Given the description of an element on the screen output the (x, y) to click on. 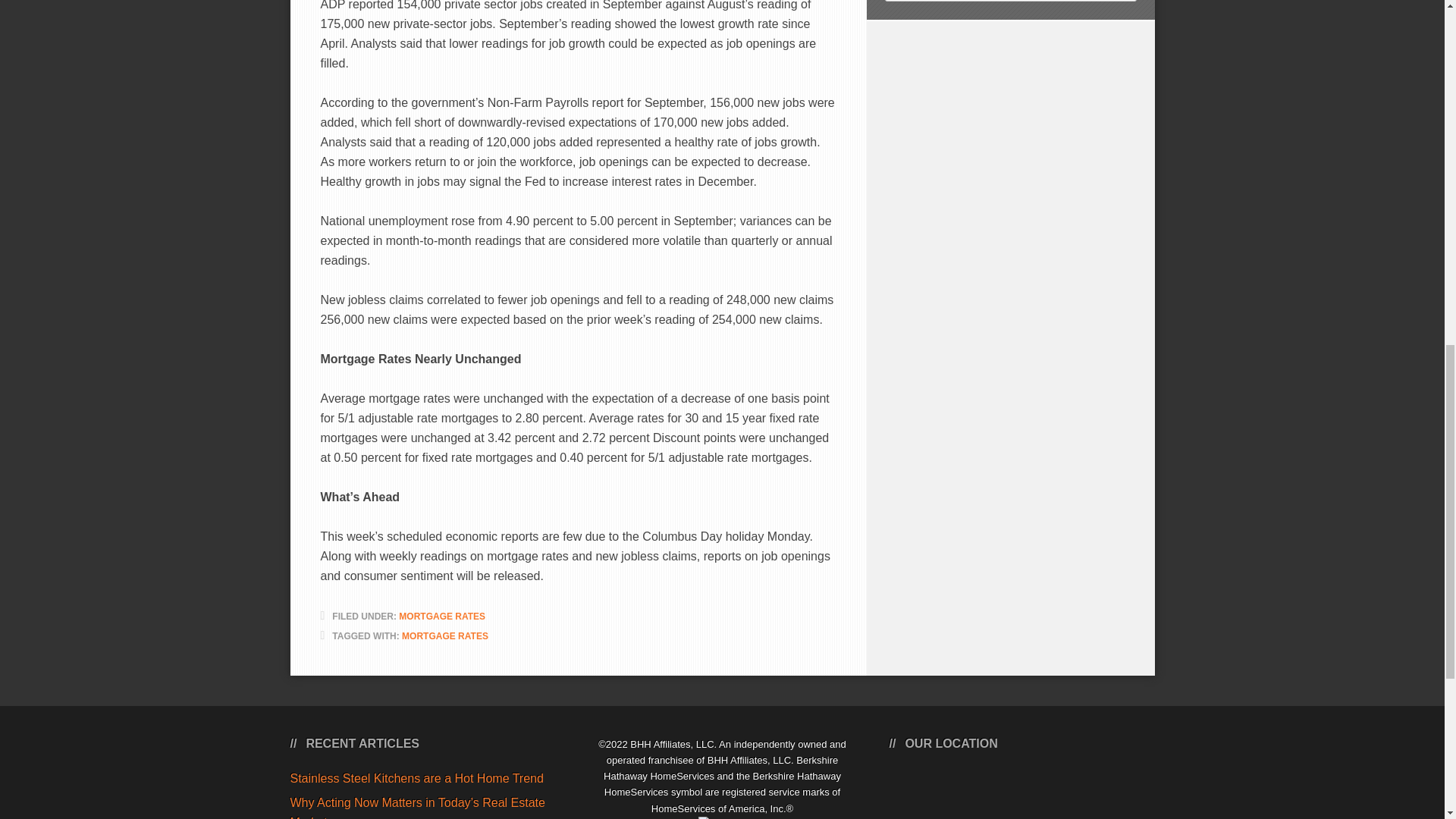
MORTGAGE RATES (441, 615)
MORTGAGE RATES (444, 635)
Stainless Steel Kitchens are a Hot Home Trend (416, 778)
